Given the description of an element on the screen output the (x, y) to click on. 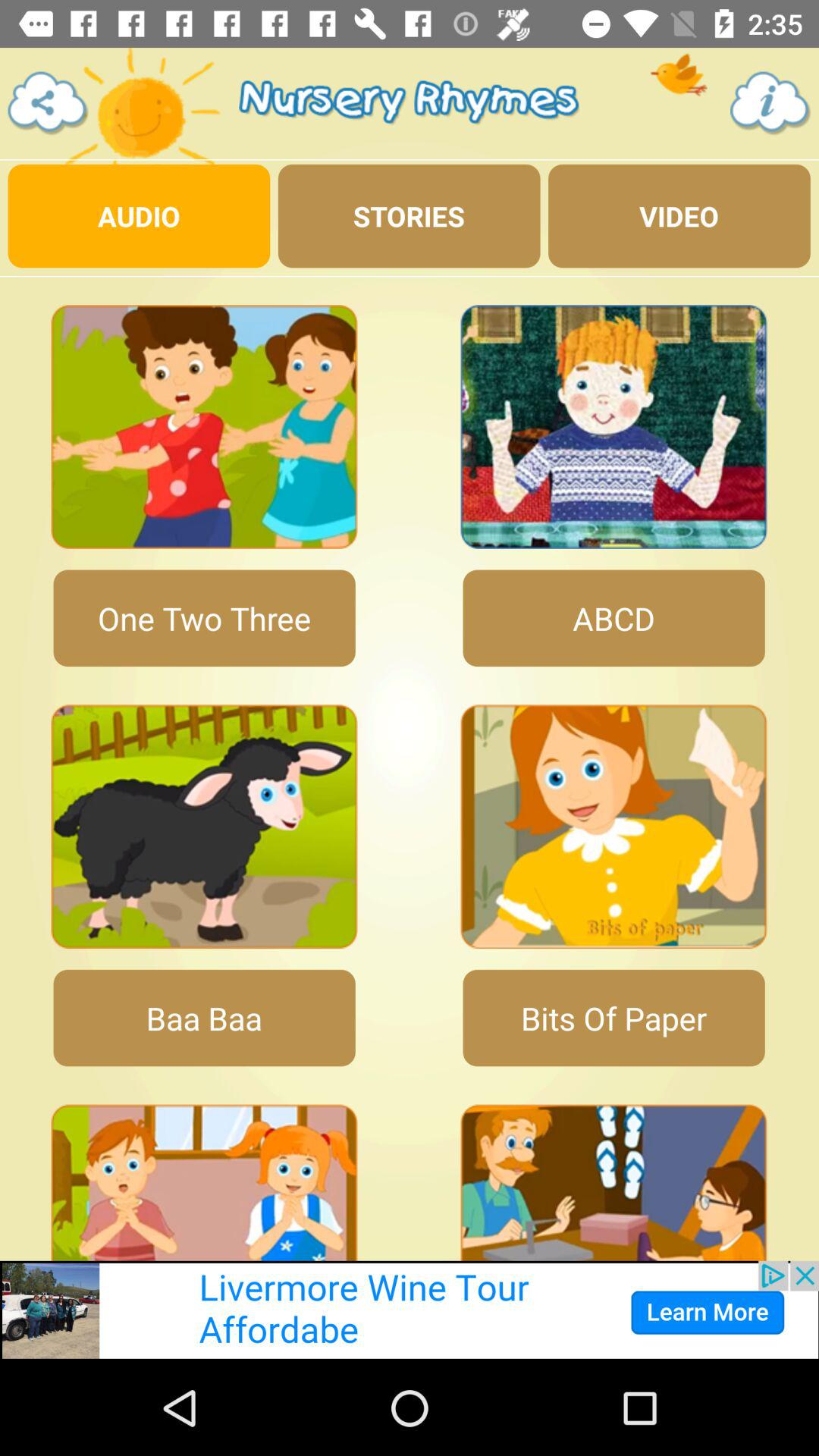
information (770, 103)
